Given the description of an element on the screen output the (x, y) to click on. 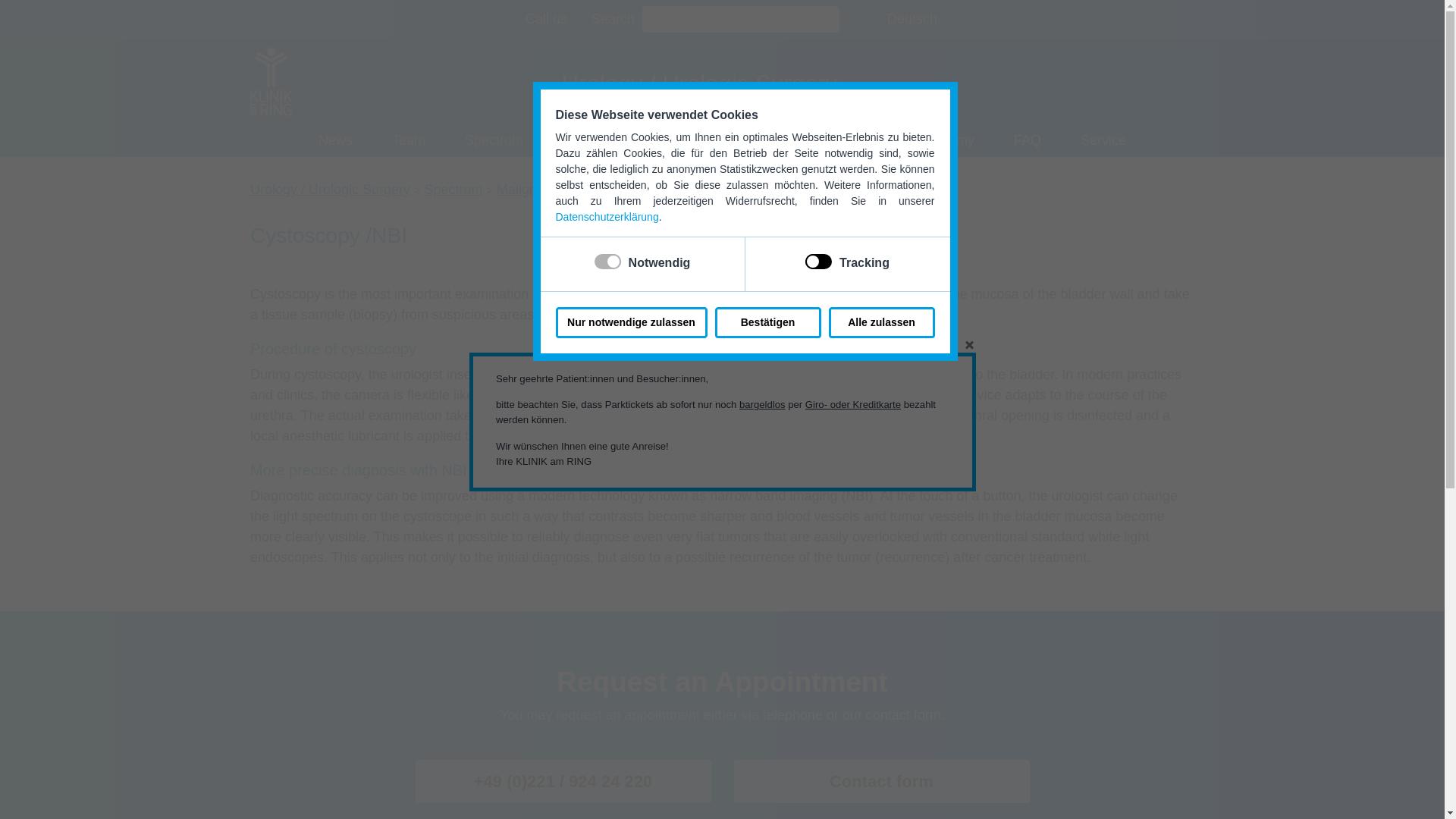
Zur Startseite der Klinik am Ring (271, 80)
Team (408, 140)
News (335, 140)
Call us (546, 18)
Spectrum (494, 140)
Zur Kontakt Seite (546, 18)
Zur Seite: News (335, 140)
Deutsch (911, 18)
Zur Seite: Team (408, 140)
